Given the description of an element on the screen output the (x, y) to click on. 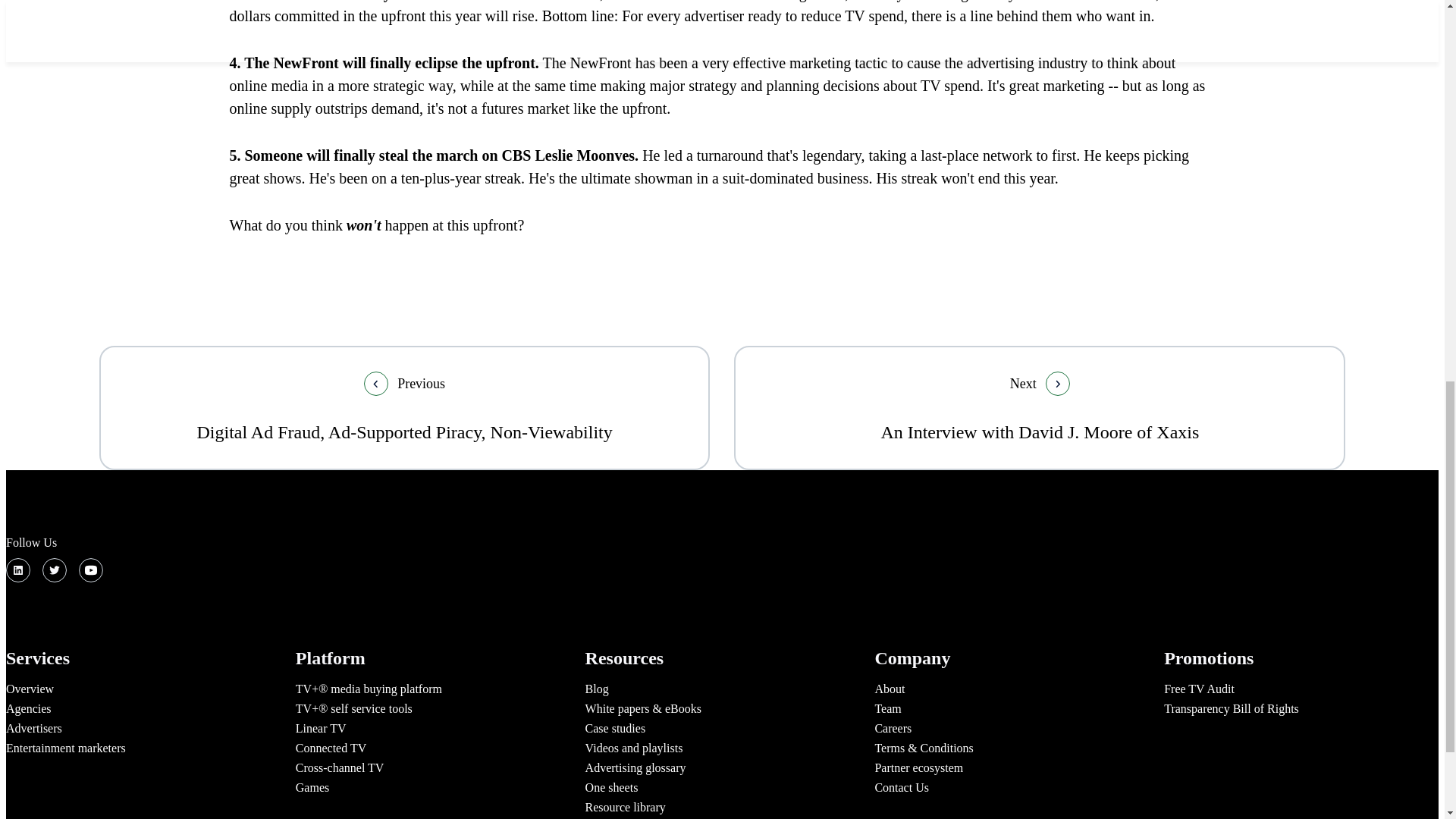
Linear TV (320, 727)
Advertising glossary (635, 767)
Find Simulmedia on YouTube (90, 569)
Transparency Bill of Rights (1039, 407)
Find Simulmedia on LinkedIn (1230, 707)
Team (17, 569)
Advertisers (888, 707)
Videos and playlists (33, 727)
Find Simulmedia on Twitter (633, 748)
Blog (54, 569)
Cross-channel TV (596, 688)
Entertainment marketers (339, 767)
Free TV Audit (65, 748)
